Given the description of an element on the screen output the (x, y) to click on. 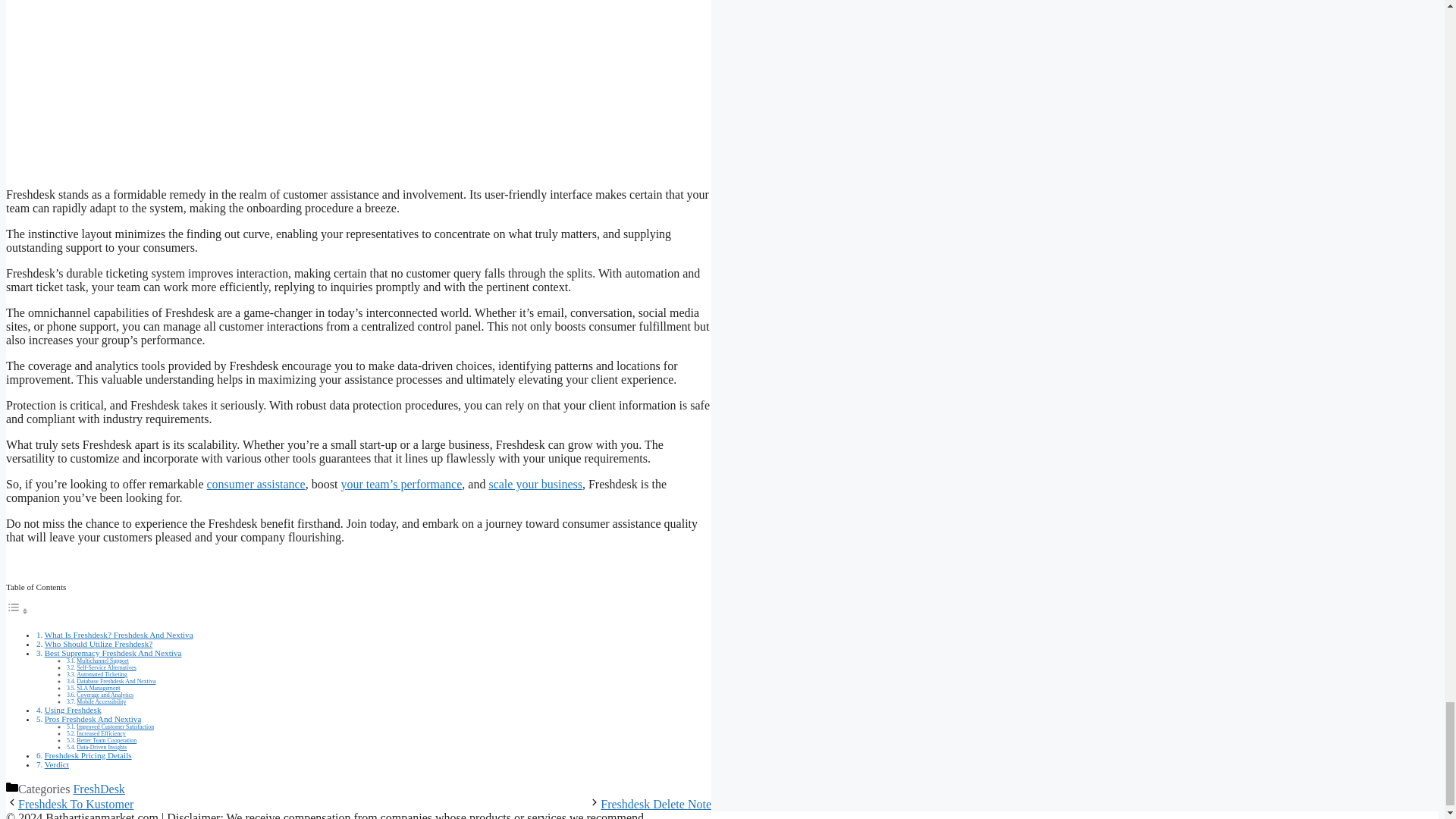
Using Freshdesk (73, 709)
Improved Customer Satisfaction (115, 726)
Multichannel Support (103, 660)
What Is Freshdesk? Freshdesk And Nextiva (119, 634)
scale your business (534, 483)
Better Team Cooperation (106, 740)
Best Supremacy Freshdesk And Nextiva (113, 652)
Automated Ticketing (101, 674)
Increased Efficiency (101, 733)
Automated Ticketing (101, 674)
Freshdesk To Kustomer (75, 803)
Who Should Utilize Freshdesk? (98, 643)
Freshdesk Delete Note (655, 803)
Mobile Accessibility (101, 701)
Pros Freshdesk And Nextiva (93, 718)
